Given the description of an element on the screen output the (x, y) to click on. 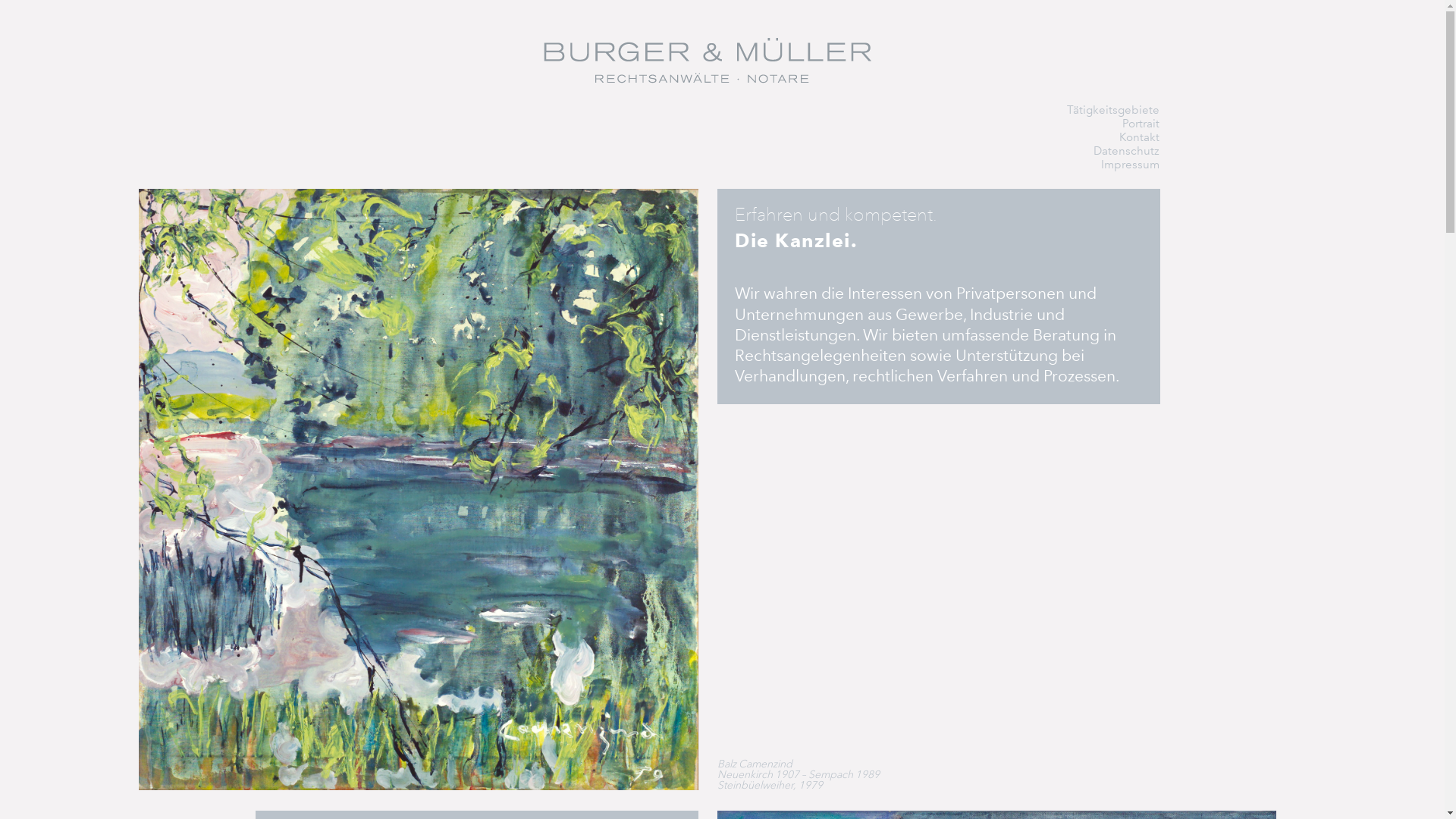
Impressum Element type: text (1130, 164)
Kontakt Element type: text (1139, 137)
Datenschutz Element type: text (1126, 150)
Portrait Element type: text (1140, 123)
